Given the description of an element on the screen output the (x, y) to click on. 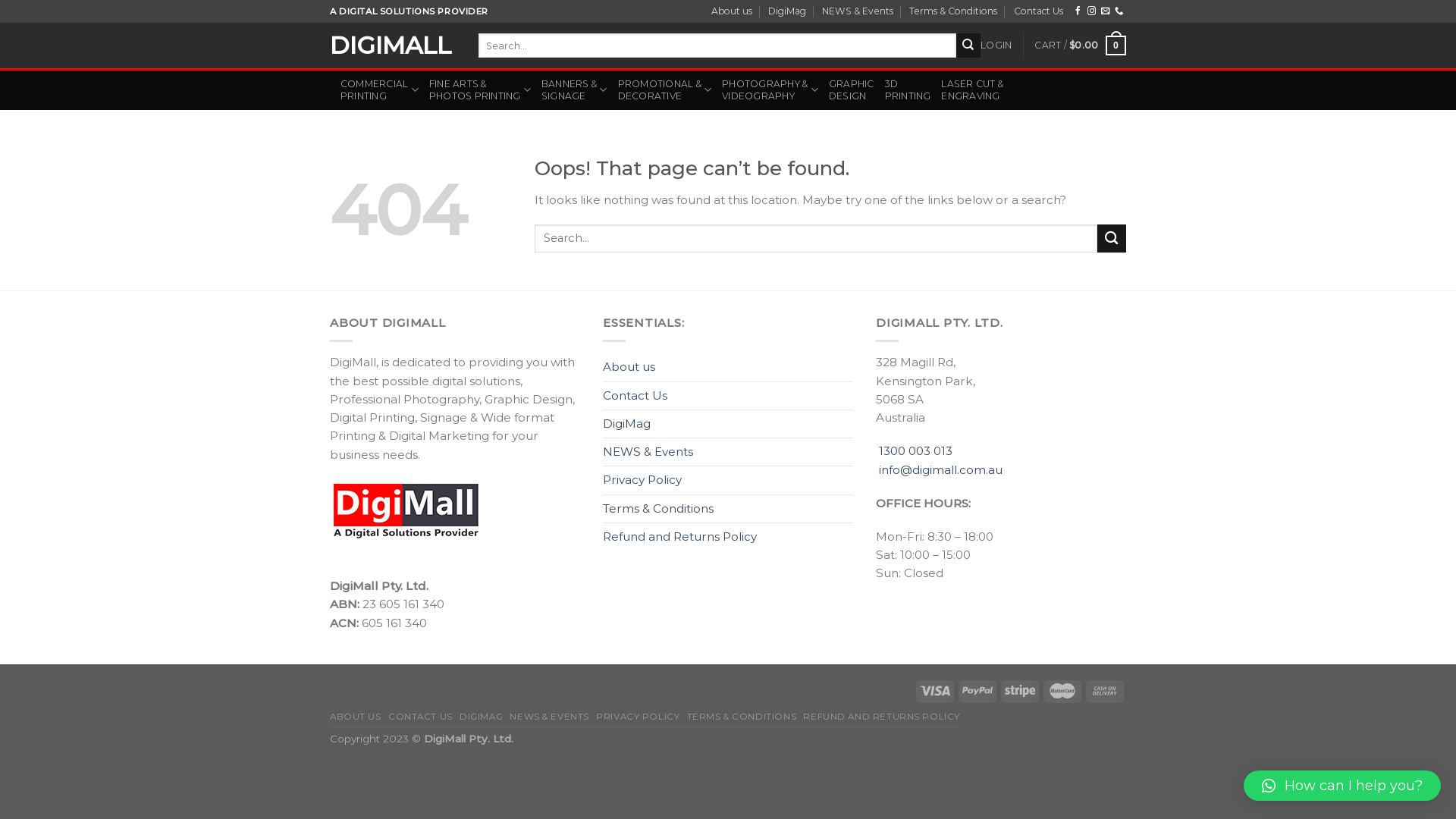
TERMS & CONDITIONS Element type: text (741, 716)
Follow on Facebook Element type: hover (1077, 10)
ABOUT US Element type: text (355, 716)
DigiMag Element type: text (626, 423)
info@digimall.com.au Element type: text (940, 469)
CONTACT US Element type: text (420, 716)
REFUND AND RETURNS POLICY Element type: text (881, 716)
COMMERCIAL
PRINTING Element type: text (379, 89)
Contact Us Element type: text (634, 395)
1300 003 013 Element type: text (915, 450)
PROMOTIONAL &
DECORATIVE Element type: text (665, 89)
Privacy Policy Element type: text (641, 479)
PRIVACY POLICY Element type: text (637, 716)
About us Element type: text (731, 11)
NEWS & Events Element type: text (857, 11)
3D
PRINTING Element type: text (907, 89)
LOGIN Element type: text (995, 44)
DIGIMALL Element type: text (392, 45)
Refund and Returns Policy Element type: text (679, 536)
LASER CUT &
ENGRAVING Element type: text (972, 89)
How can I help you? Element type: text (1341, 785)
Follow on Instagram Element type: hover (1091, 10)
FINE ARTS &
PHOTOS PRINTING Element type: text (479, 89)
CART / $0.00
0 Element type: text (1080, 45)
NEWS & EVENTS Element type: text (549, 716)
Send us an email Element type: hover (1105, 10)
DIGIMAG Element type: text (480, 716)
Call us Element type: hover (1118, 10)
BANNERS &
SIGNAGE Element type: text (574, 89)
DigiMag Element type: text (787, 11)
Terms & Conditions Element type: text (657, 508)
Terms & Conditions Element type: text (953, 11)
Contact Us Element type: text (1038, 11)
Search Element type: text (968, 45)
GRAPHIC
DESIGN Element type: text (851, 89)
PHOTOGRAPHY &
VIDEOGRAPHY Element type: text (769, 89)
NEWS & Events Element type: text (647, 451)
About us Element type: text (628, 366)
